Given the description of an element on the screen output the (x, y) to click on. 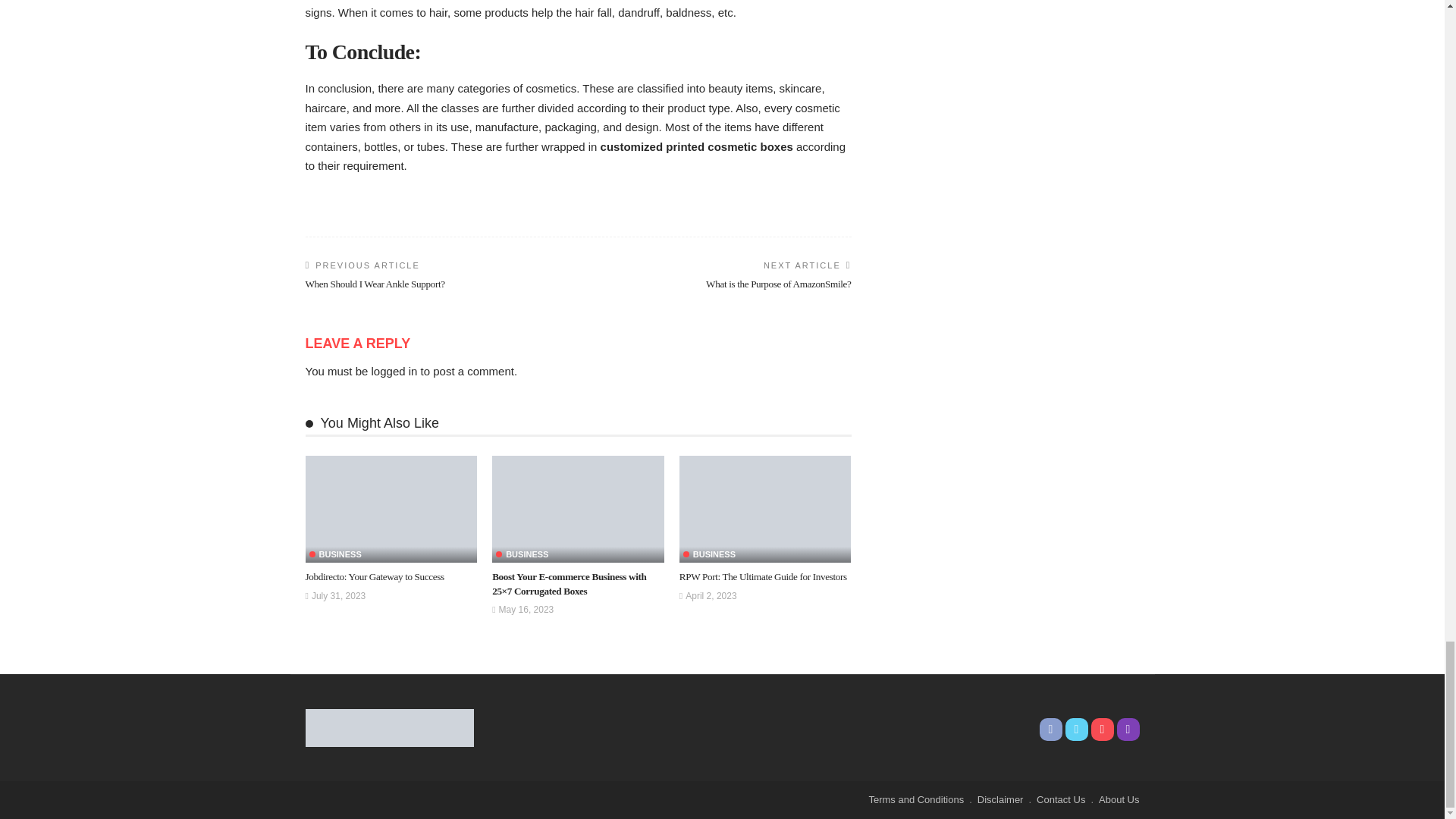
Jobdirecto: Your Gateway to Success (390, 509)
When Should I Wear Ankle Support? (374, 283)
Business (334, 554)
What is the Purpose of AmazonSmile? (778, 283)
